Given the description of an element on the screen output the (x, y) to click on. 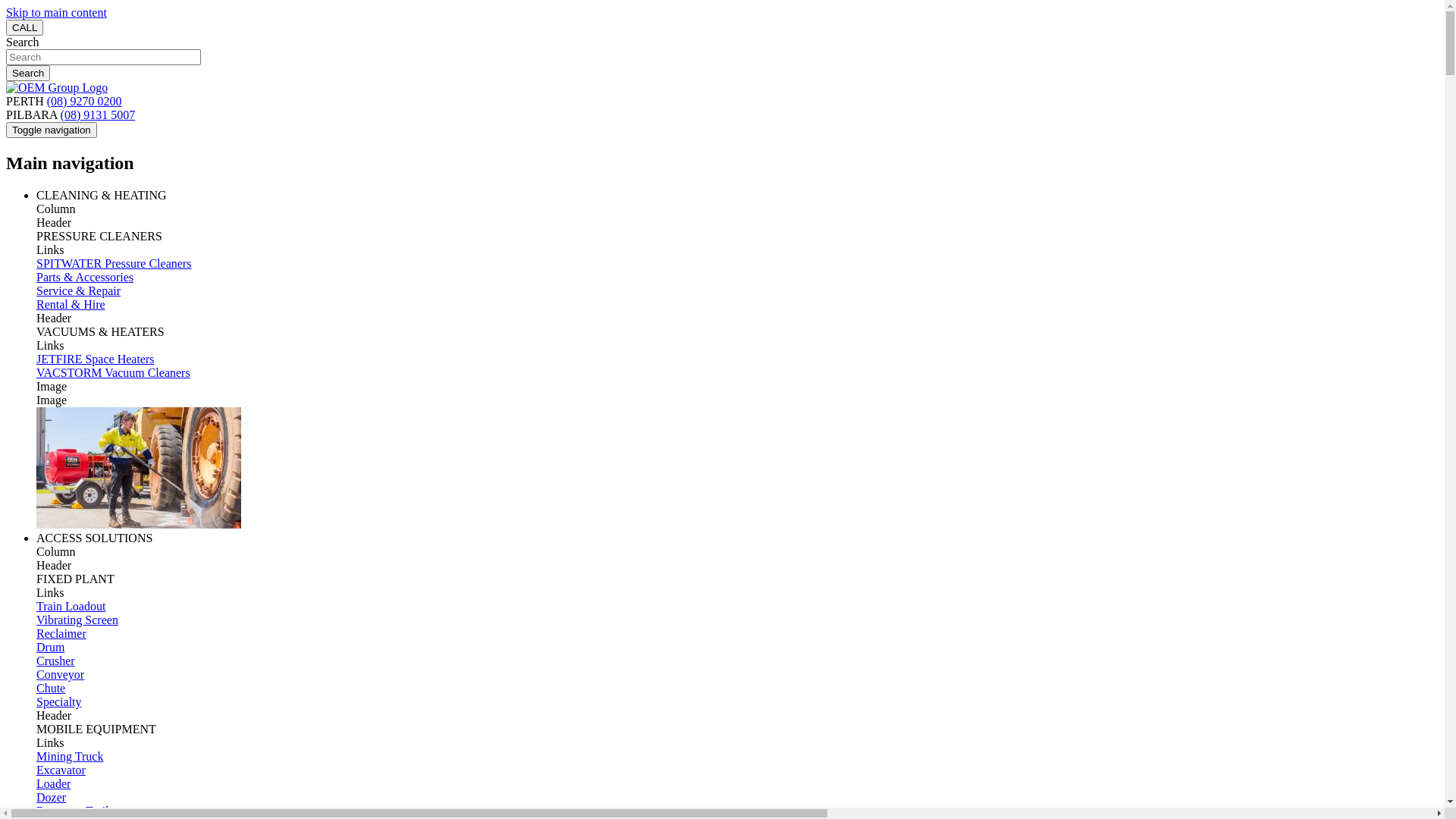
Crusher Element type: text (55, 660)
Recovery Trailer Element type: text (77, 810)
Parts & Accessories Element type: text (84, 276)
Specialty Element type: text (58, 701)
Conveyor Element type: text (60, 674)
Mining Truck Element type: text (69, 755)
Toggle navigation Element type: text (51, 130)
JETFIRE Space Heaters Element type: text (95, 358)
Train Loadout Element type: text (70, 605)
Loader Element type: text (53, 783)
CALL Element type: text (24, 27)
(08) 9270 0200 Element type: text (84, 100)
Vibrating Screen Element type: text (77, 619)
VACSTORM Vacuum Cleaners Element type: text (113, 372)
Reclaimer Element type: text (61, 633)
(08) 9131 5007 Element type: text (97, 114)
Dozer Element type: text (50, 796)
Chute Element type: text (50, 687)
Service & Repair Element type: text (78, 290)
Drum Element type: text (50, 646)
SPITWATER Pressure Cleaners Element type: text (113, 263)
Excavator Element type: text (60, 769)
Rental & Hire Element type: text (70, 304)
Search Element type: text (28, 73)
CALL Element type: text (24, 26)
Skip to main content Element type: text (56, 12)
